Given the description of an element on the screen output the (x, y) to click on. 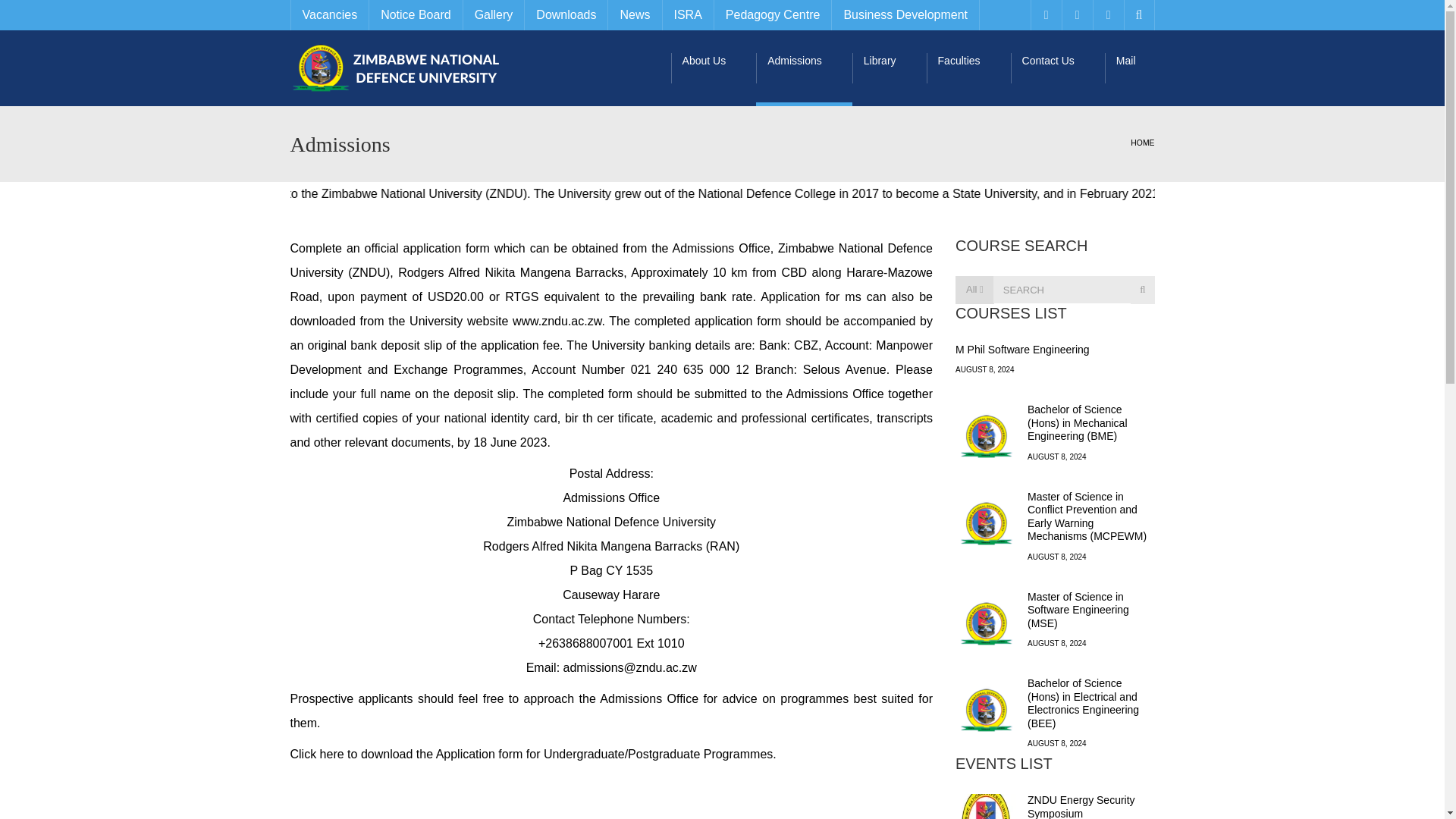
News (634, 15)
Vacancies (328, 15)
M Phil Software Engineering (1022, 349)
Notice Board (415, 15)
ISRA (687, 15)
Downloads (565, 15)
About Us (714, 68)
ZNDU Energy Security Symposium (985, 806)
Business Development (905, 15)
Library (888, 68)
Pedagogy Centre (772, 15)
ZNDU Energy Security Symposium (1081, 806)
Admissions (803, 68)
Faculties (968, 68)
Gallery (493, 15)
